Given the description of an element on the screen output the (x, y) to click on. 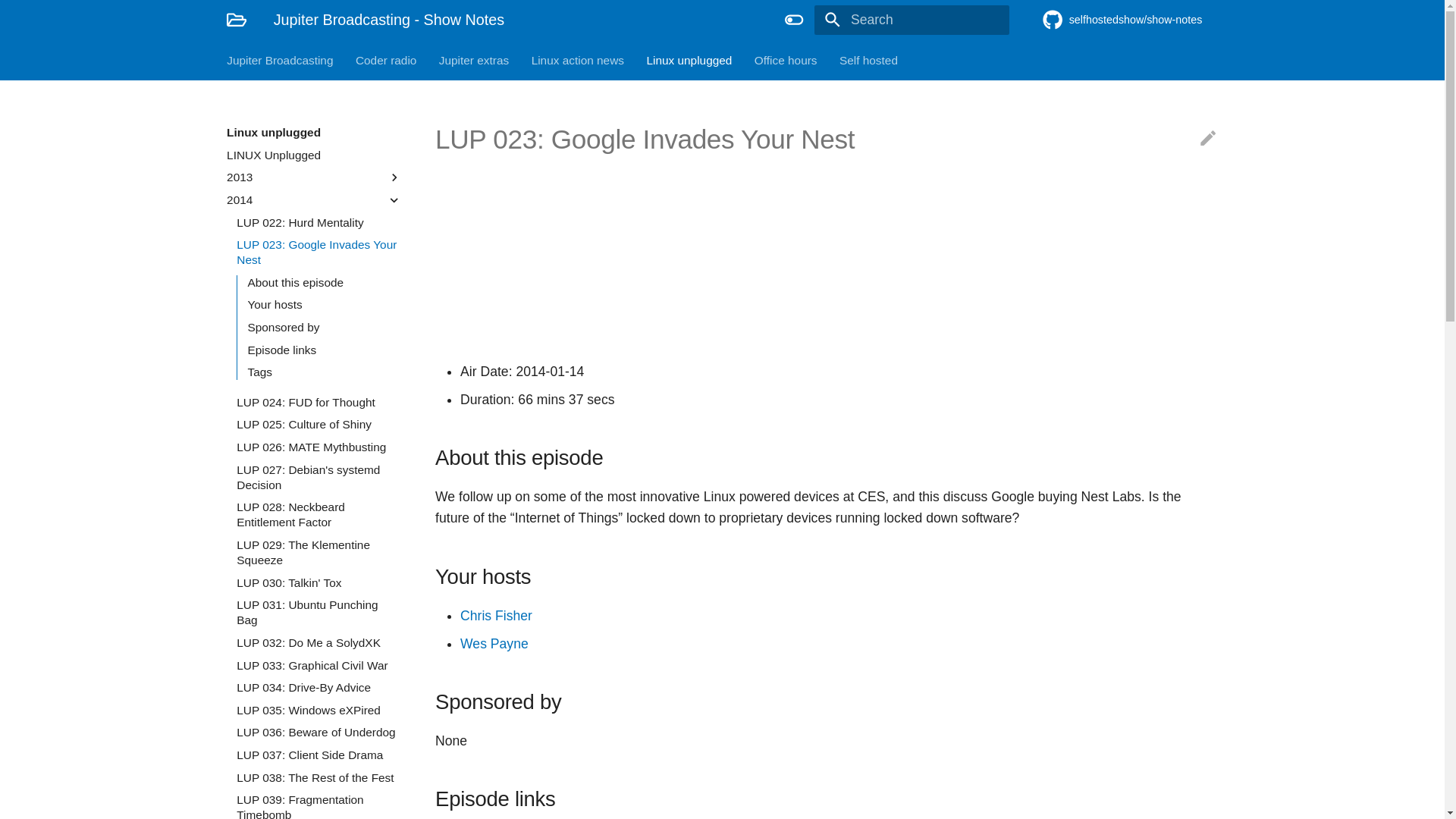
Linux action news (577, 59)
Jupiter Broadcasting (280, 59)
Self hosted (869, 59)
Go to repository (1129, 20)
Jupiter extras (473, 59)
Jupiter Broadcasting - Show Notes (236, 19)
Linux unplugged (689, 59)
Office hours (785, 59)
Coder radio (385, 59)
Edit this page (1207, 138)
